Given the description of an element on the screen output the (x, y) to click on. 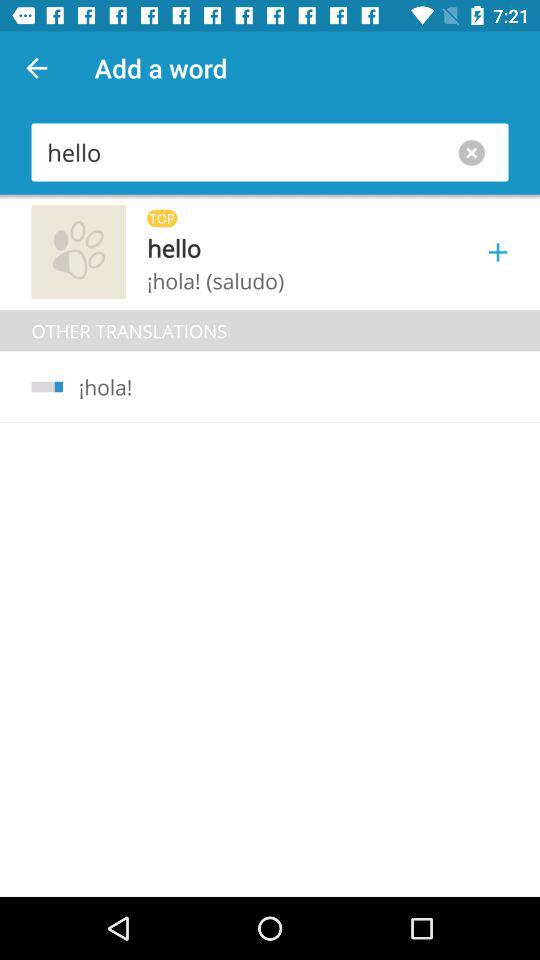
clear search bar (476, 152)
